Given the description of an element on the screen output the (x, y) to click on. 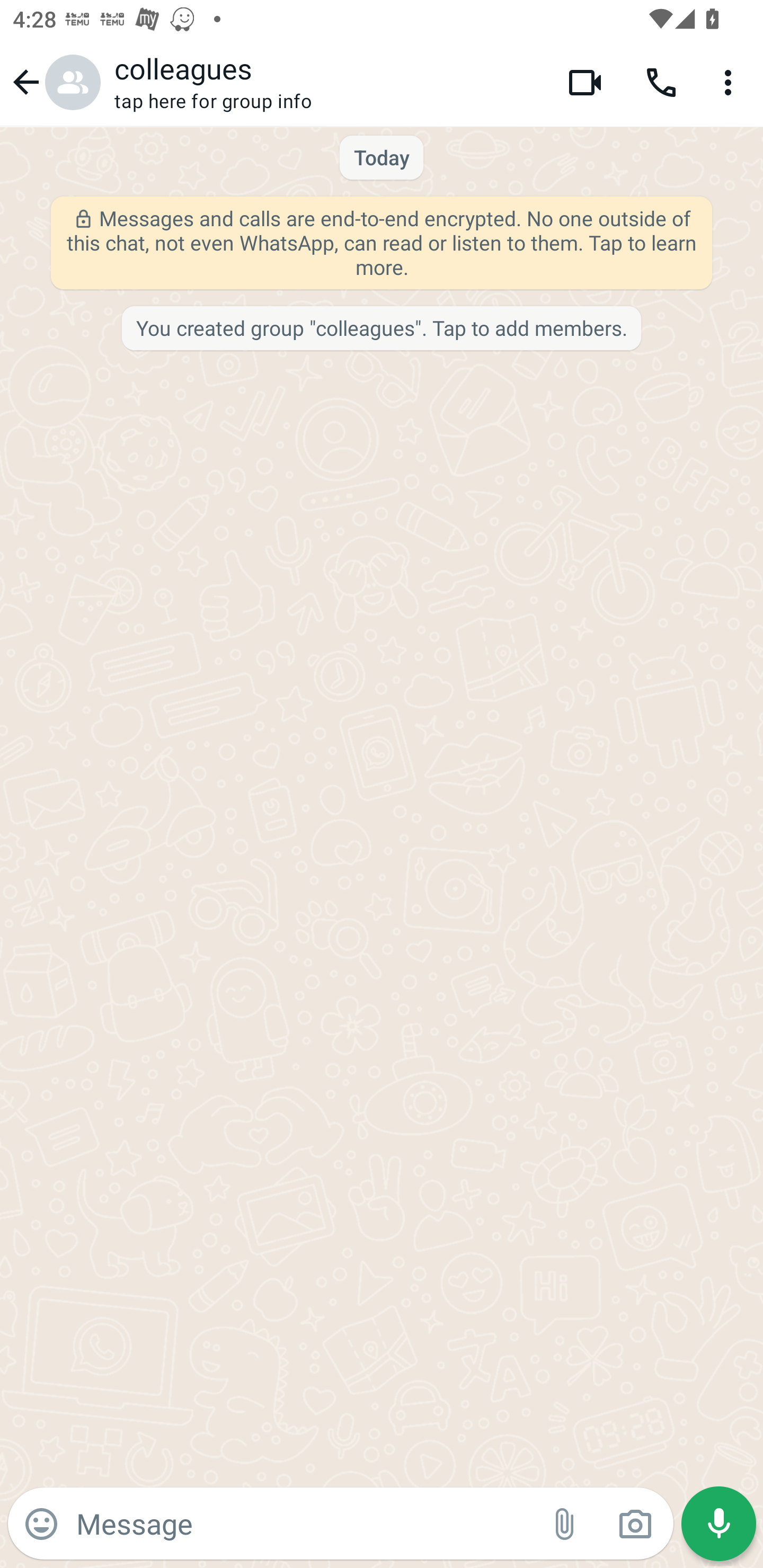
colleagues tap here for group info (327, 82)
Navigate up (54, 82)
Video call (585, 81)
Voice call (661, 81)
More options (731, 81)
Emoji (41, 1523)
Attach (565, 1523)
Camera (634, 1523)
Message (303, 1523)
